Given the description of an element on the screen output the (x, y) to click on. 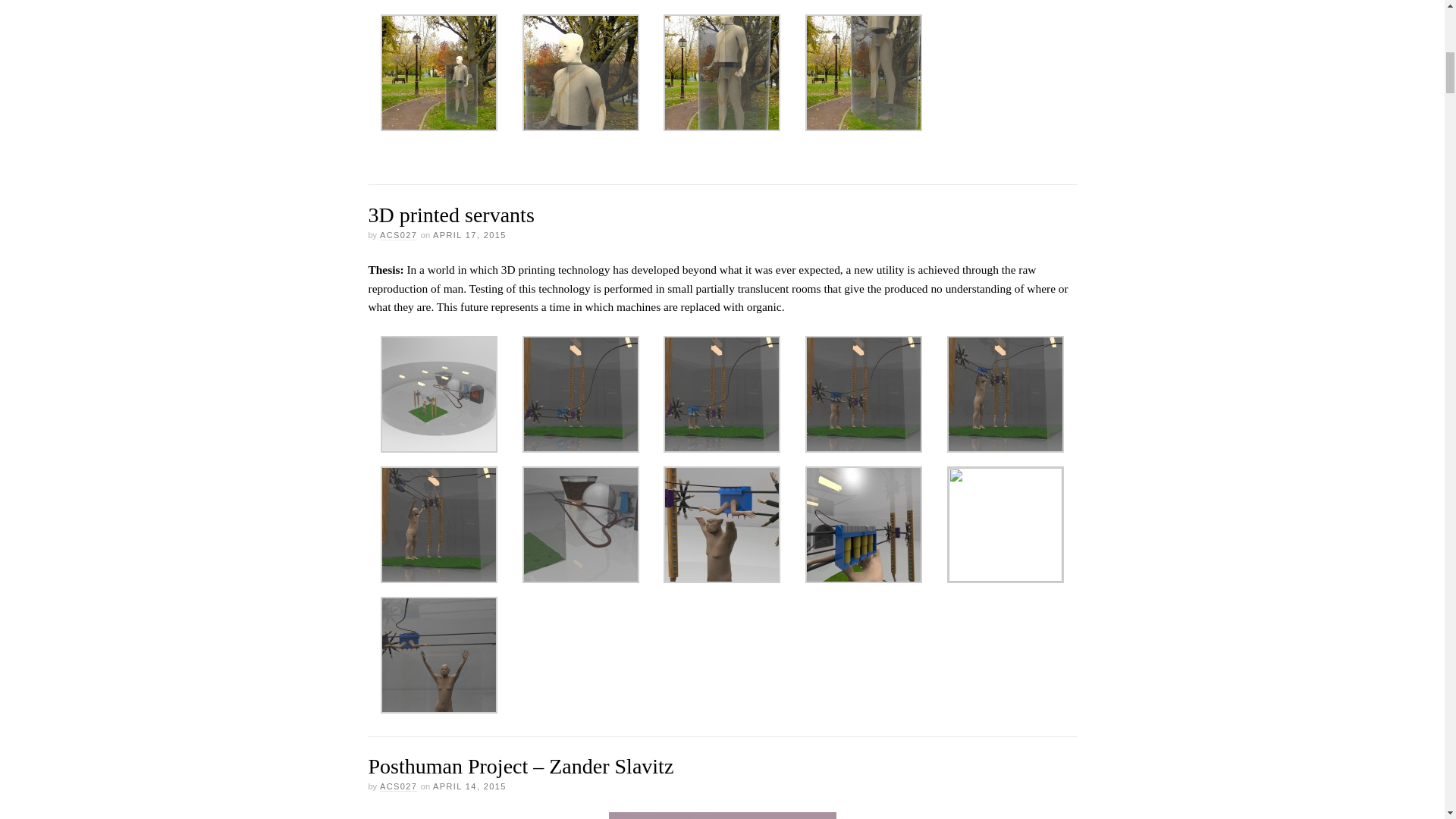
Posts by acs027 (398, 235)
Posts by acs027 (398, 786)
3D printed servants (451, 214)
